Given the description of an element on the screen output the (x, y) to click on. 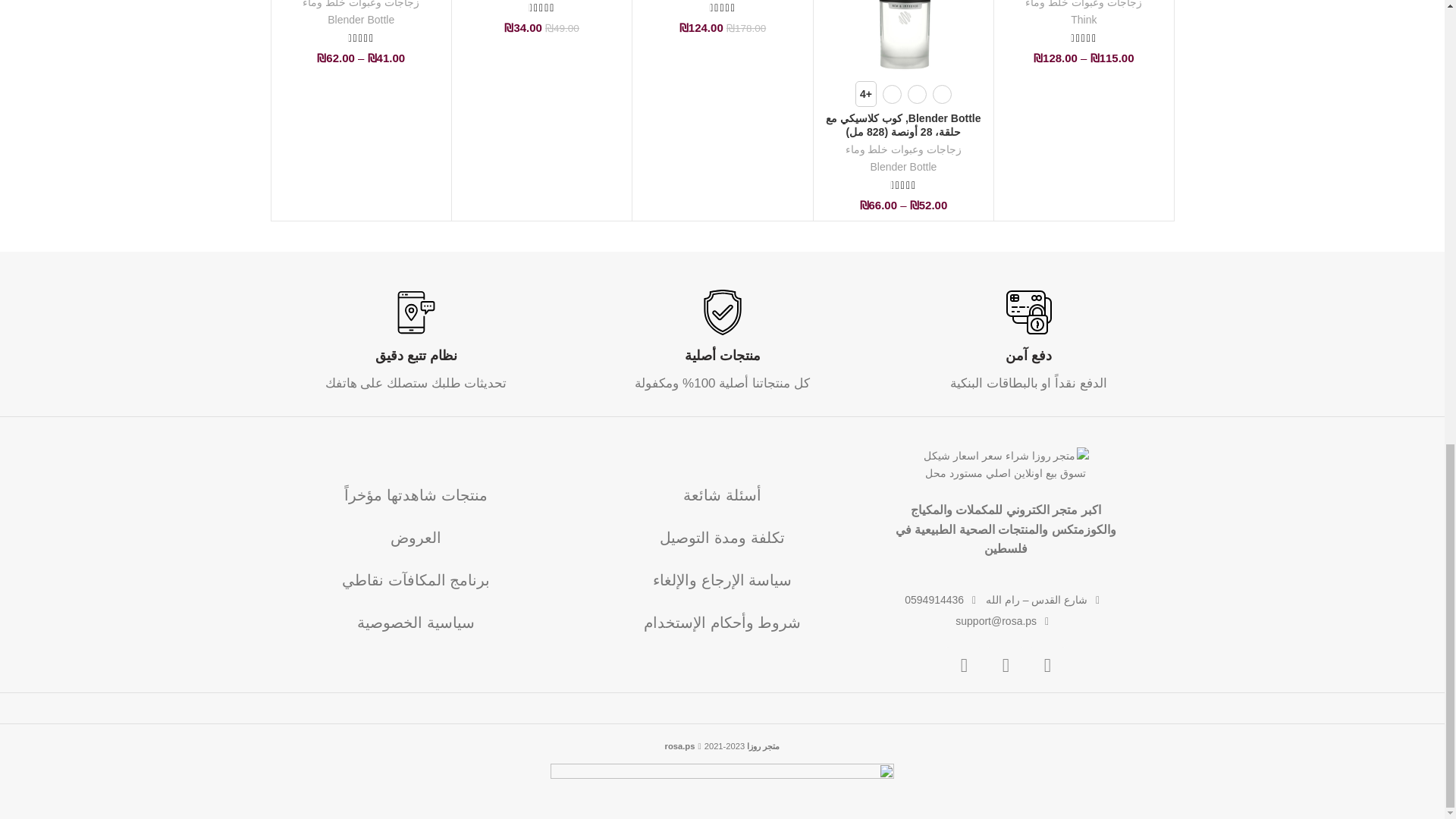
rosa logo  footer (1005, 466)
